Given the description of an element on the screen output the (x, y) to click on. 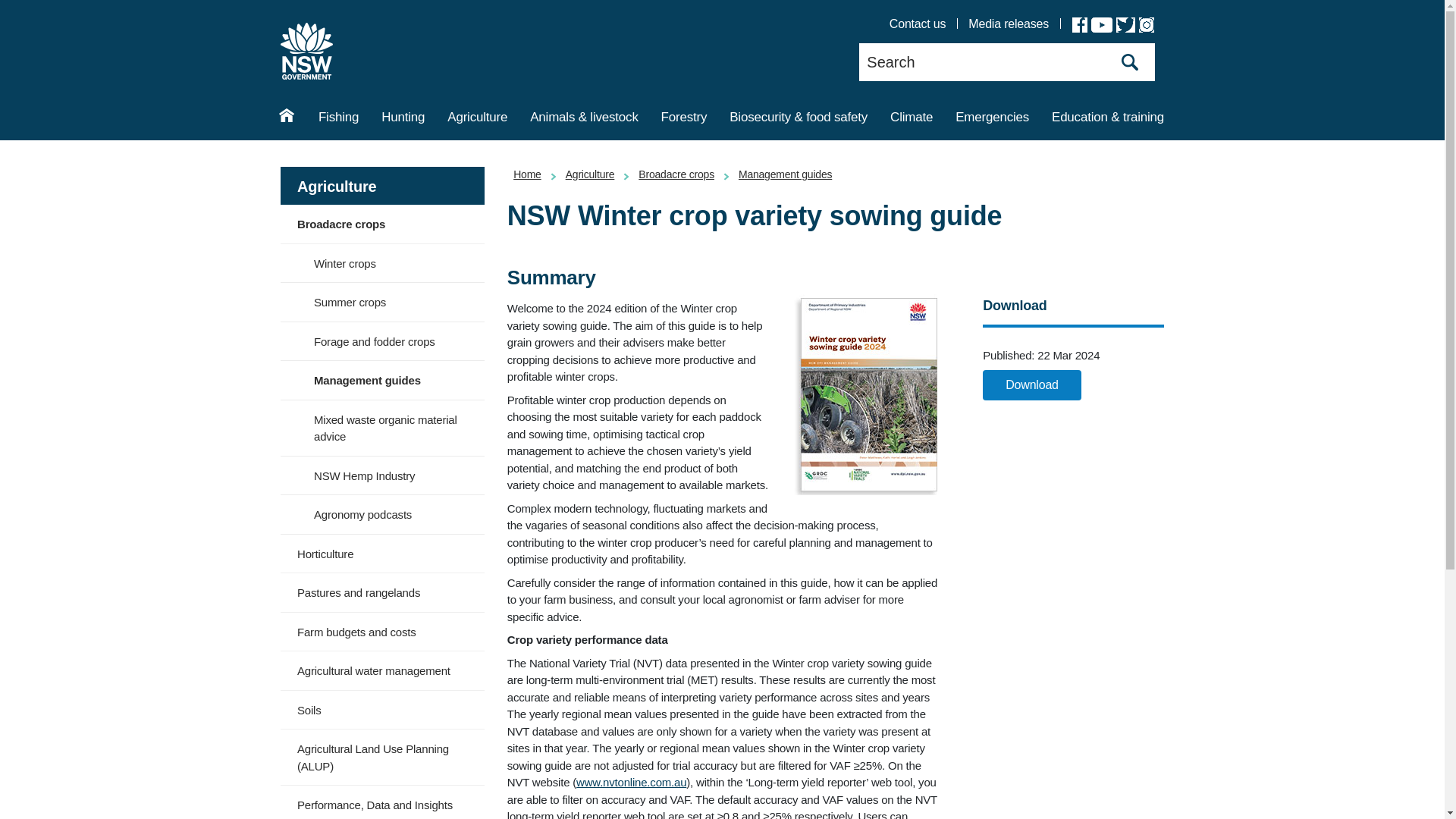
Go (1129, 62)
Redirects to external website (630, 781)
Website - DPI new (307, 50)
Fishing (338, 119)
Go (1129, 62)
Hunting (402, 119)
Media releases (1008, 24)
Go (1129, 62)
Contact us (916, 24)
